Given the description of an element on the screen output the (x, y) to click on. 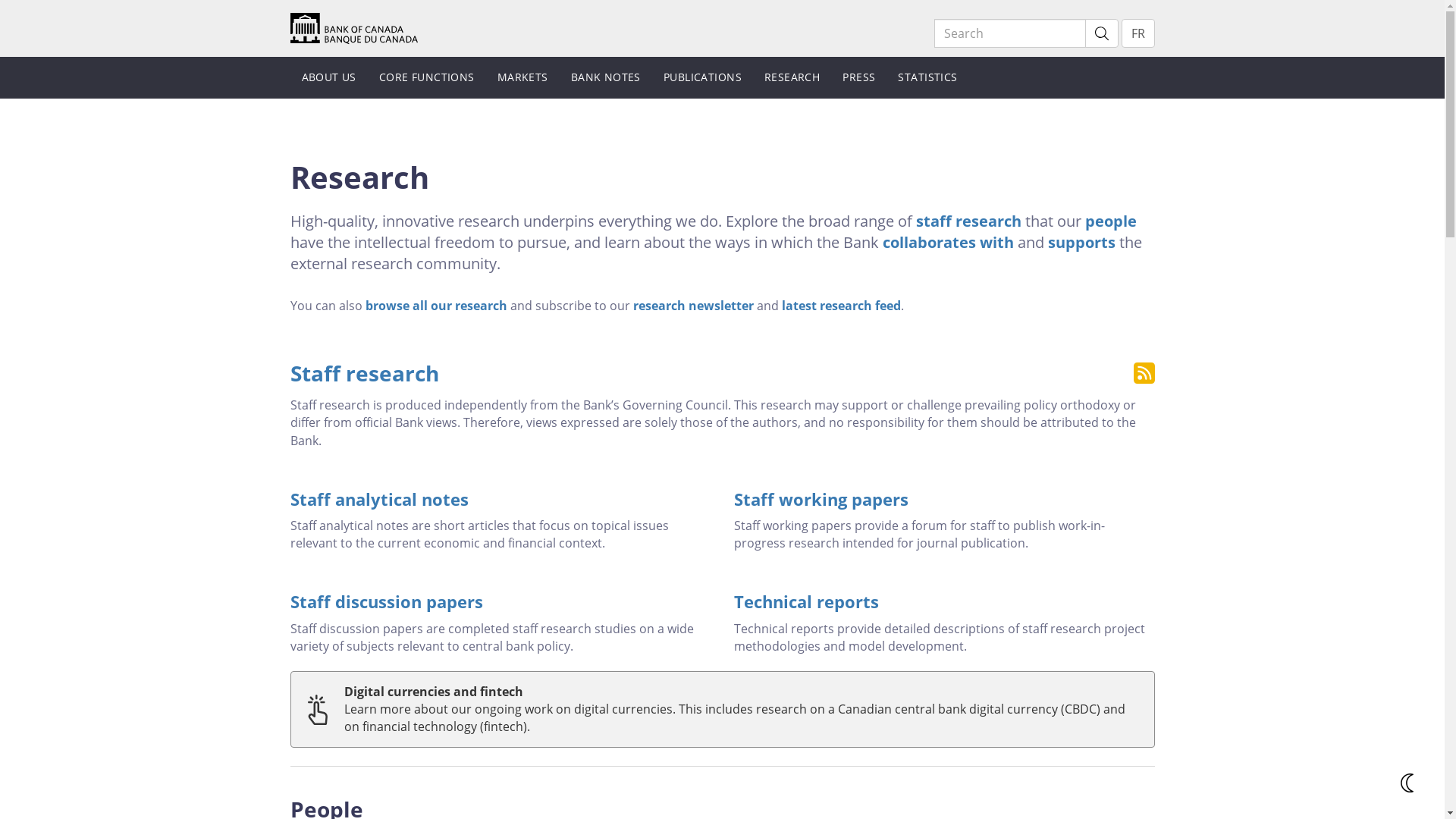
research newsletter Element type: text (692, 305)
people Element type: text (1109, 220)
supports Element type: text (1081, 242)
Home Element type: text (353, 26)
Staff analytical notes Element type: text (499, 498)
latest research feed Element type: text (840, 305)
Staff working papers Element type: text (944, 498)
FR Element type: text (1137, 32)
staff research Element type: text (968, 220)
RESEARCH Element type: text (792, 77)
BANK NOTES Element type: text (605, 77)
STATISTICS Element type: text (927, 77)
Staff discussion papers Element type: text (499, 601)
collaborates with Element type: text (947, 242)
Technical reports Element type: text (944, 601)
PRESS Element type: text (858, 77)
Search Element type: hover (1009, 32)
Staff research Element type: text (363, 372)
CORE FUNCTIONS Element type: text (426, 77)
PUBLICATIONS Element type: text (702, 77)
MARKETS Element type: text (522, 77)
Search Element type: text (1100, 32)
ABOUT US Element type: text (328, 77)
browse all our research Element type: text (436, 305)
